Given the description of an element on the screen output the (x, y) to click on. 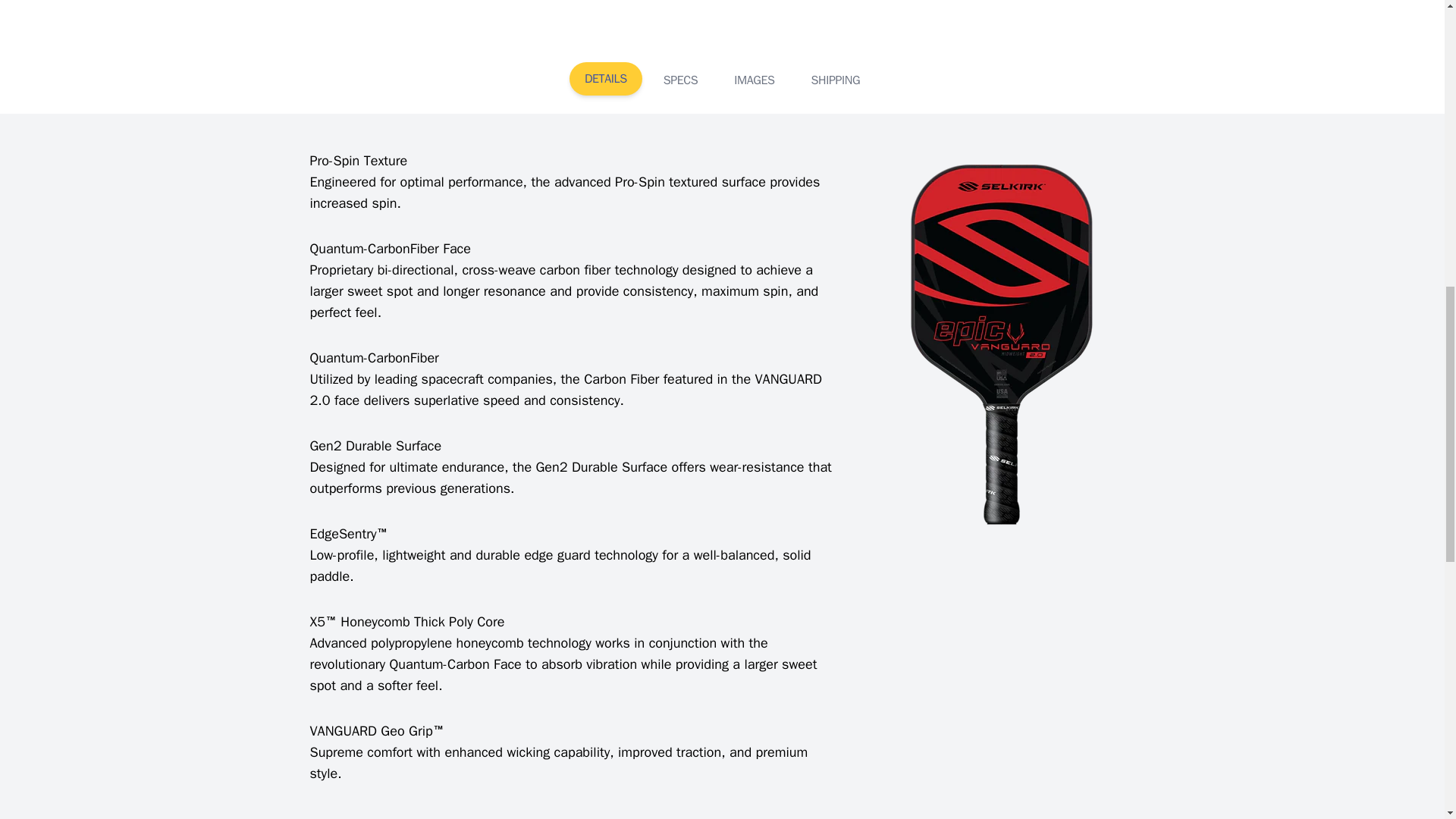
SPECS (680, 80)
IMAGES (754, 80)
SHIPPING (836, 80)
DETAILS (605, 78)
